Given the description of an element on the screen output the (x, y) to click on. 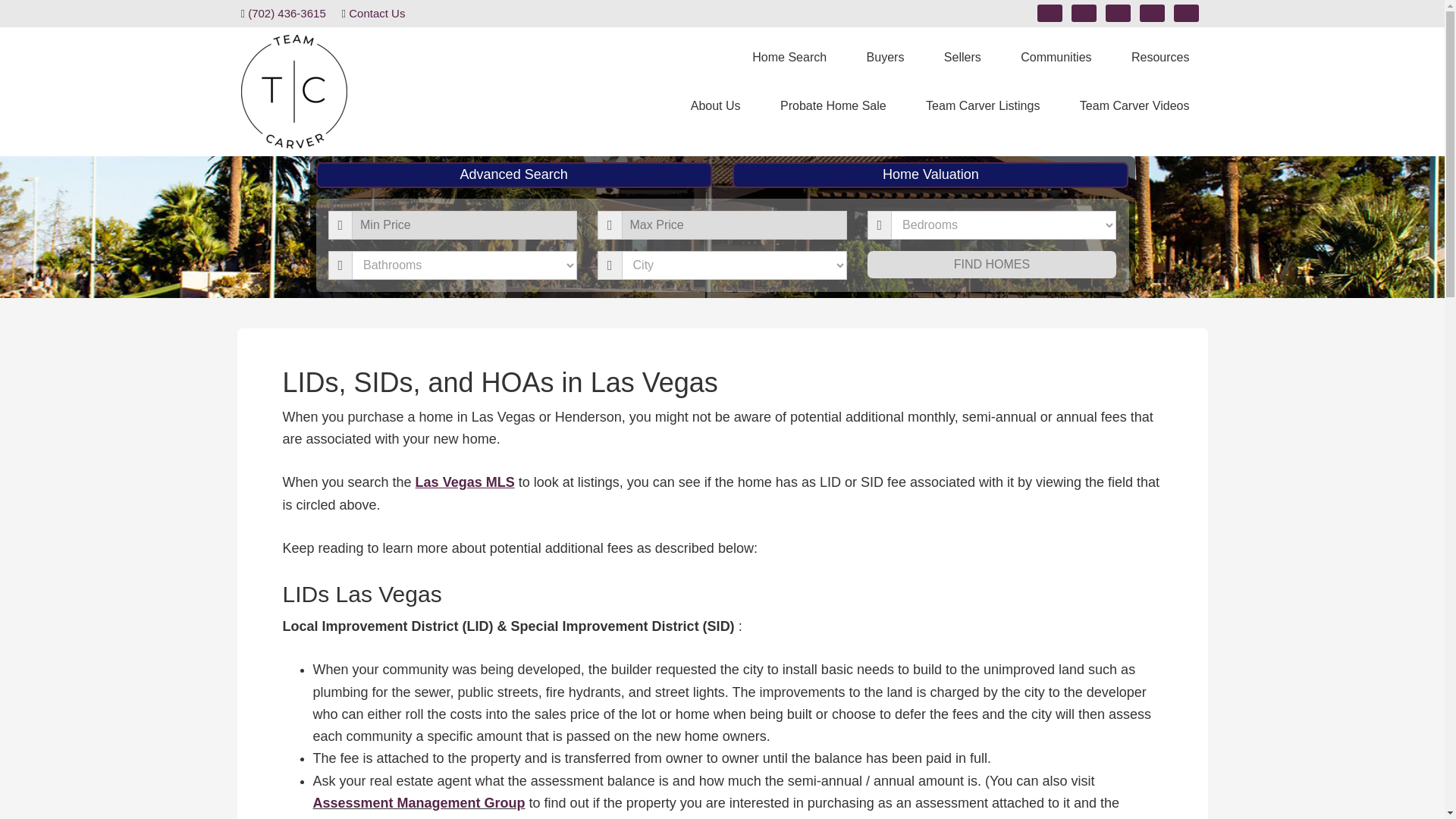
YouTube (1185, 13)
Twitter (1152, 12)
Advanced Search (513, 174)
RSS (1118, 13)
Twitter (1152, 13)
Home Valuation (930, 174)
Probate Home Sale (832, 105)
Las Vegas MLS (464, 482)
Team Carver Videos (1134, 105)
About Us (715, 105)
